Given the description of an element on the screen output the (x, y) to click on. 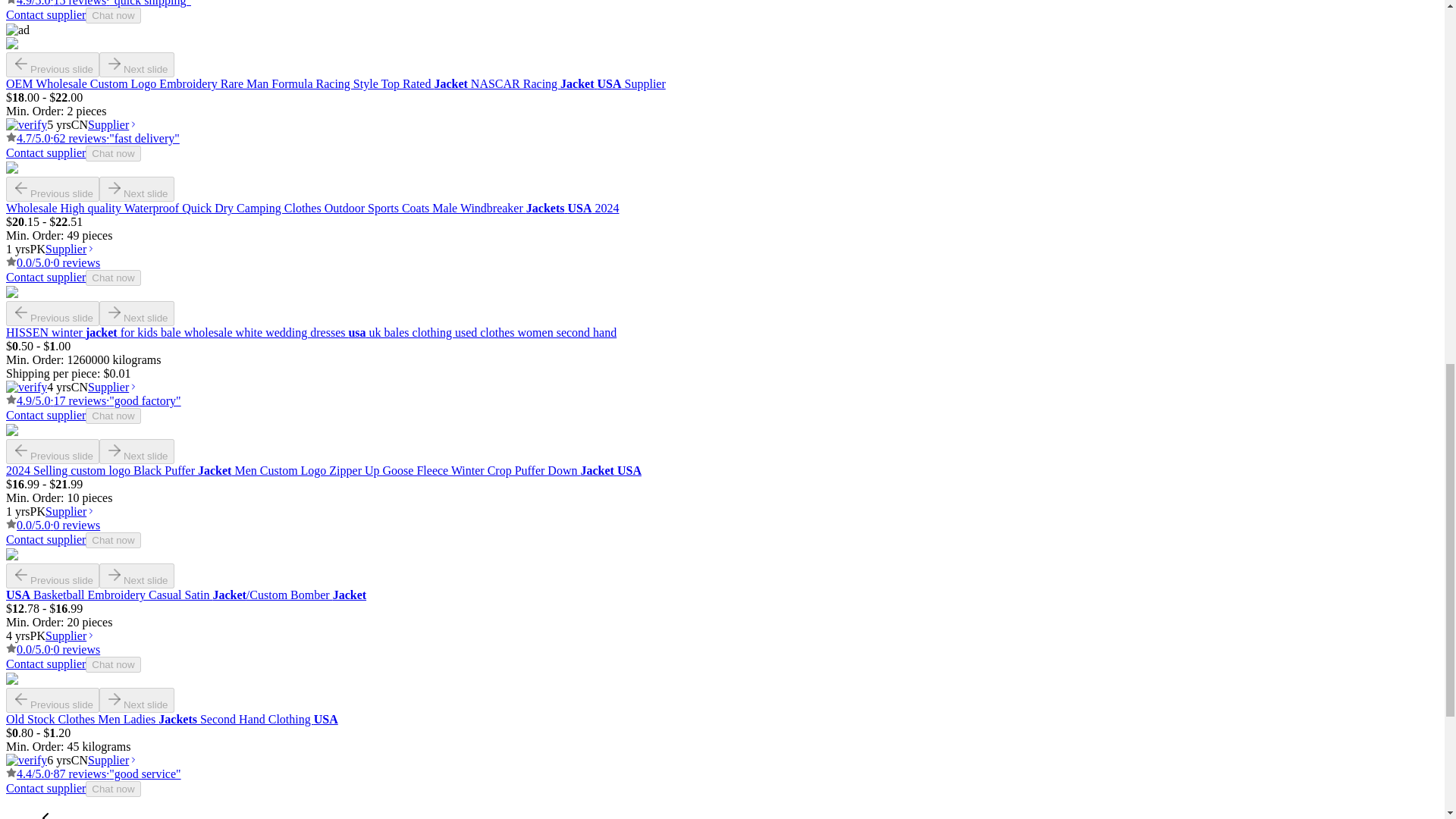
Guangzhou Gracer Renewable Resources Co., Ltd. (79, 759)
Next slide (136, 64)
LUDANZA INDUSTRIES (37, 248)
MAGES INTERNATIONAL (37, 511)
Supplier (112, 124)
Previous slide (52, 64)
Chat now (112, 15)
Contact supplier (45, 152)
Contact supplier (45, 14)
ZEEMAX SPORTS (37, 635)
Guangzhou Hissen International Trade Limited Company (79, 386)
Hubei Yasoo Industrial Co., Ltd. (79, 124)
